Given the description of an element on the screen output the (x, y) to click on. 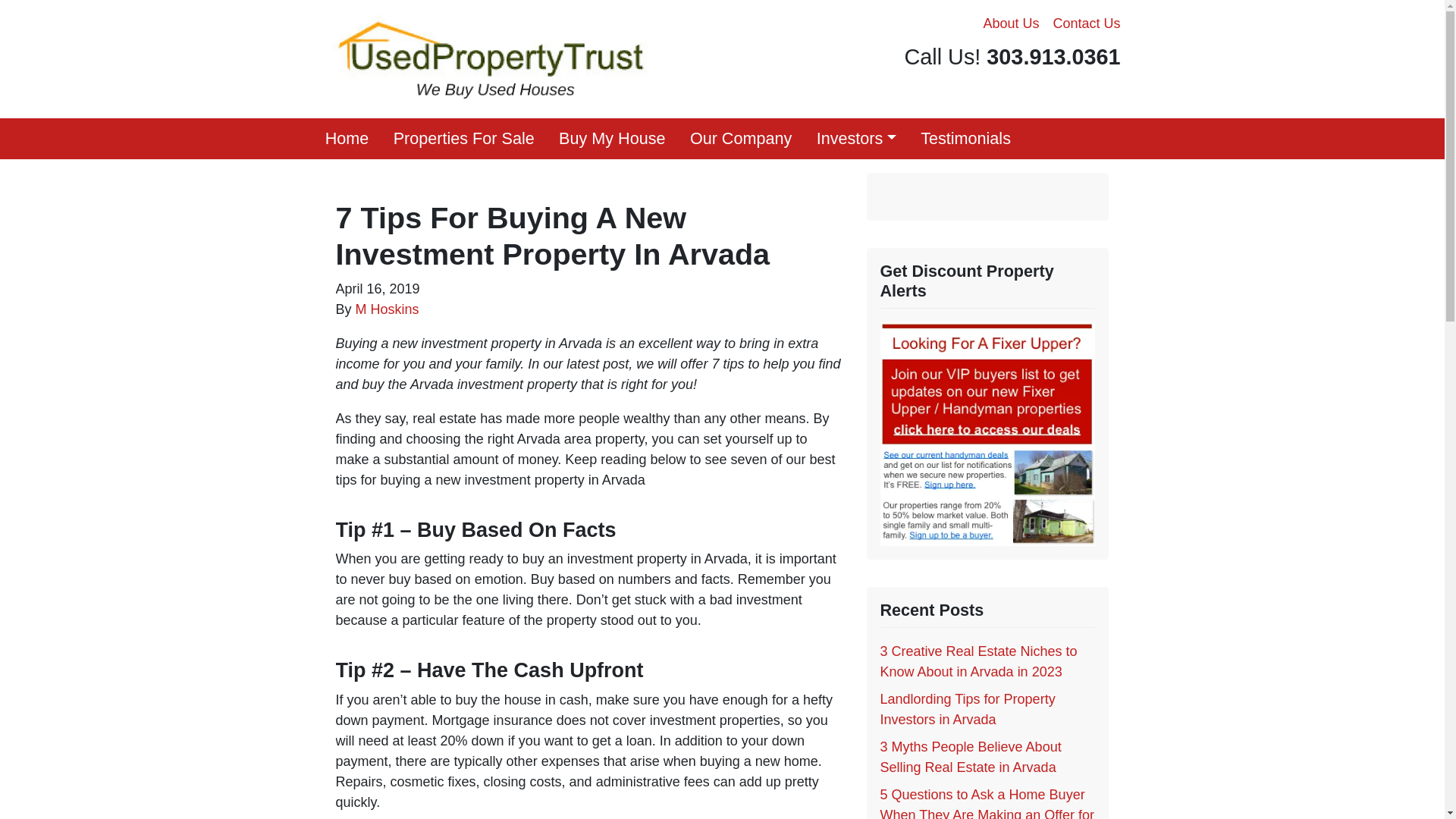
Buy My House (612, 137)
Buy My House (612, 137)
Home (346, 137)
M Hoskins (387, 309)
Our Company (741, 137)
Our Company (741, 137)
Investors (855, 137)
see our discount properties (986, 432)
Testimonials (965, 137)
Contact Us (1085, 23)
3 Myths People Believe About Selling Real Estate in Arvada (970, 756)
Properties For Sale (463, 137)
Properties For Sale (463, 137)
Home (346, 137)
